Given the description of an element on the screen output the (x, y) to click on. 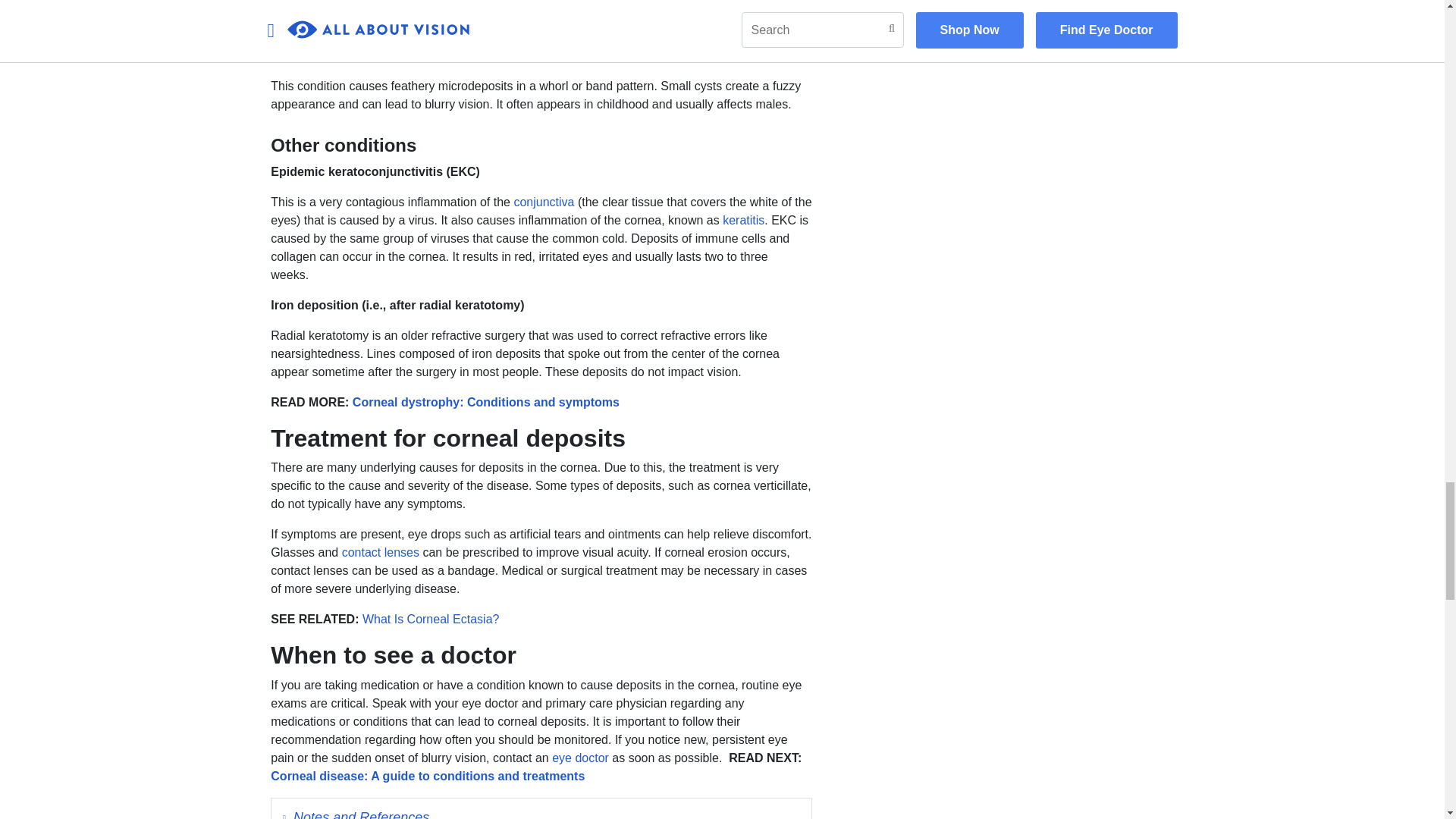
conjunctiva (543, 201)
Corneal disease: A guide to conditions and treatments (427, 775)
eye doctor (579, 757)
Corneal dystrophy: Conditions and symptoms (486, 401)
What Is Corneal Ectasia? (430, 618)
contact lenses (380, 552)
keratitis (743, 219)
